Given the description of an element on the screen output the (x, y) to click on. 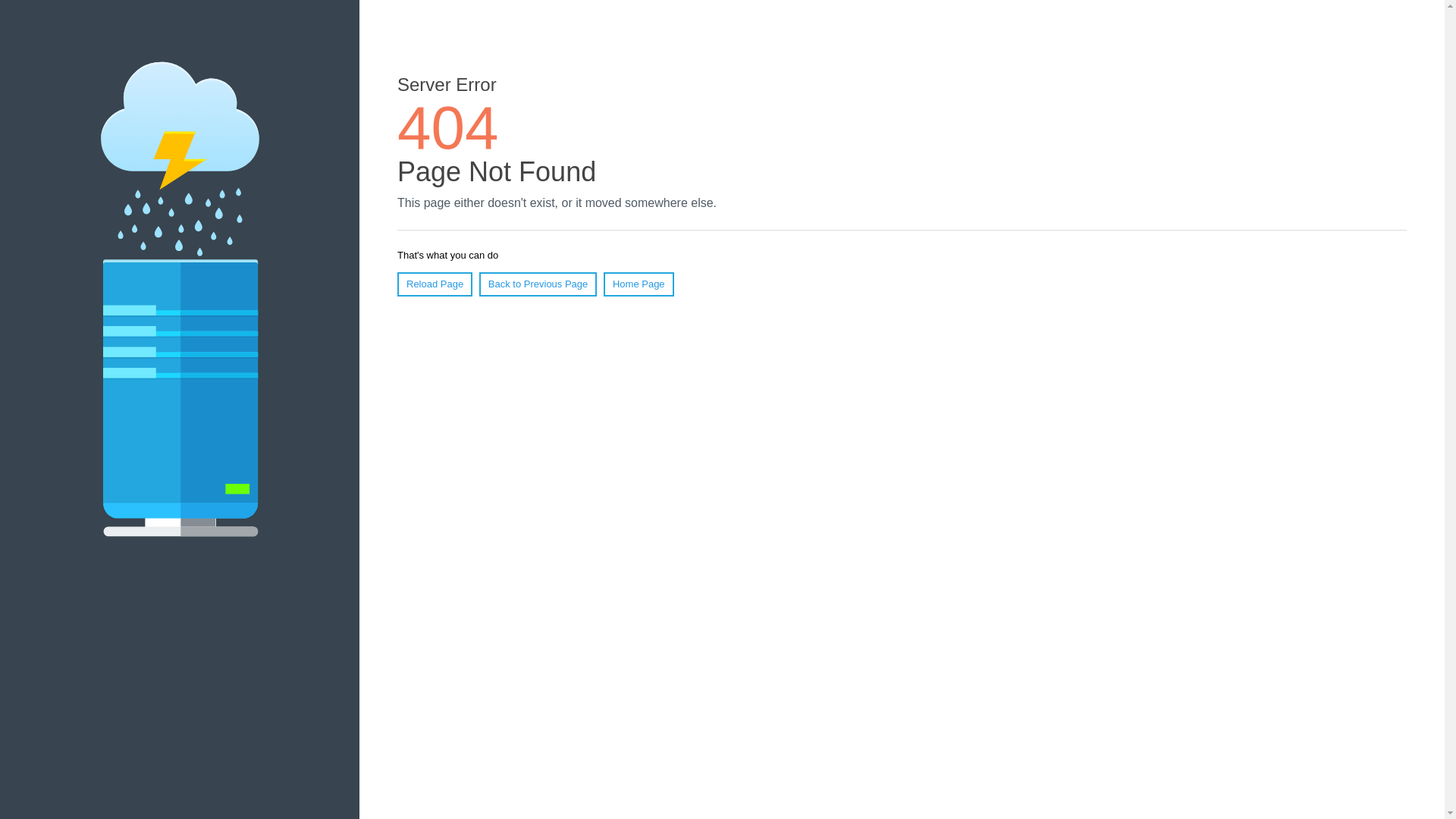
Reload Page (434, 283)
Home Page (639, 283)
Back to Previous Page (537, 283)
